Given the description of an element on the screen output the (x, y) to click on. 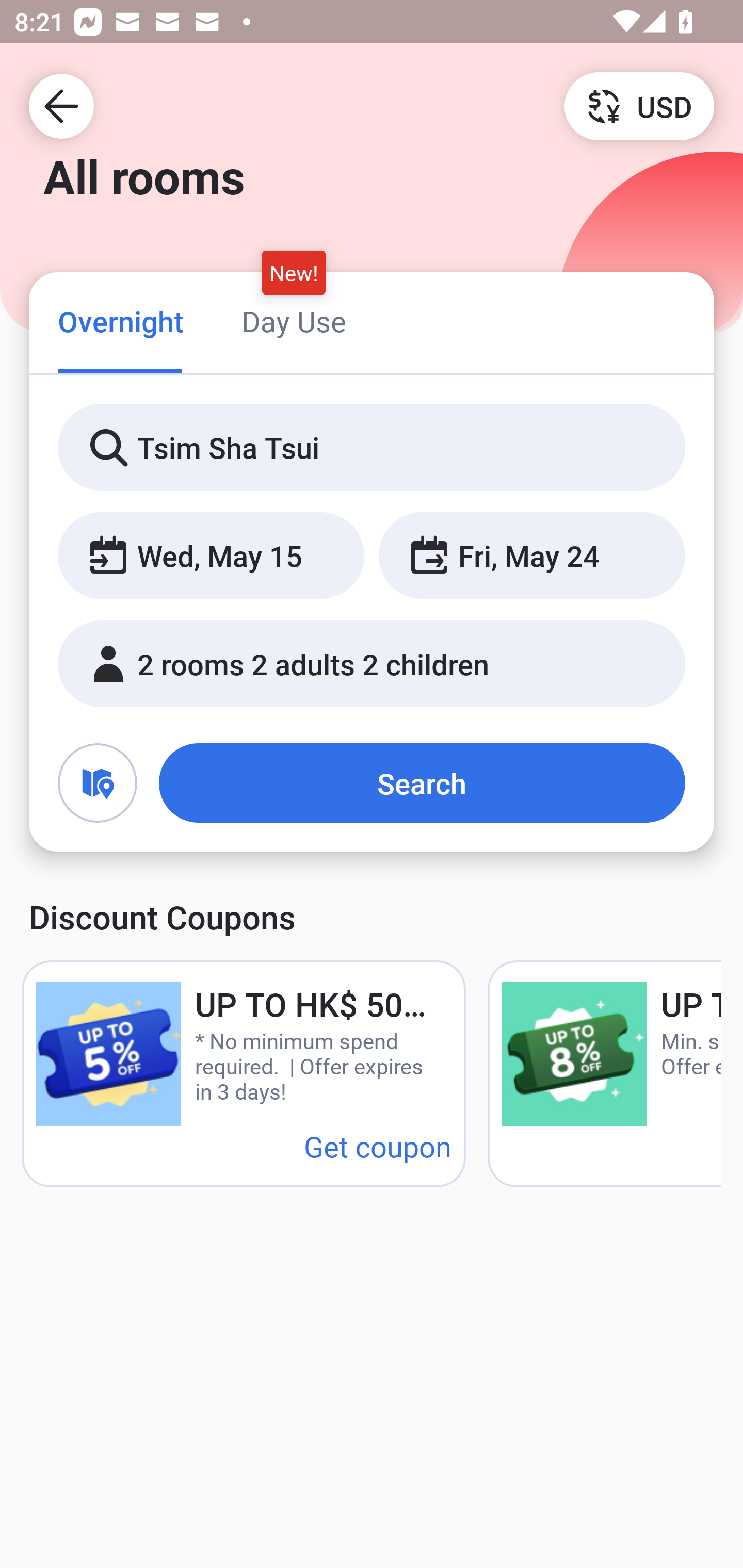
USD (639, 105)
New! (294, 272)
Day Use (293, 321)
Tsim Sha Tsui (371, 447)
Wed, May 15 (210, 555)
Fri, May 24 (531, 555)
2 rooms 2 adults 2 children (371, 663)
Search (422, 783)
Get coupon (377, 1146)
